Given the description of an element on the screen output the (x, y) to click on. 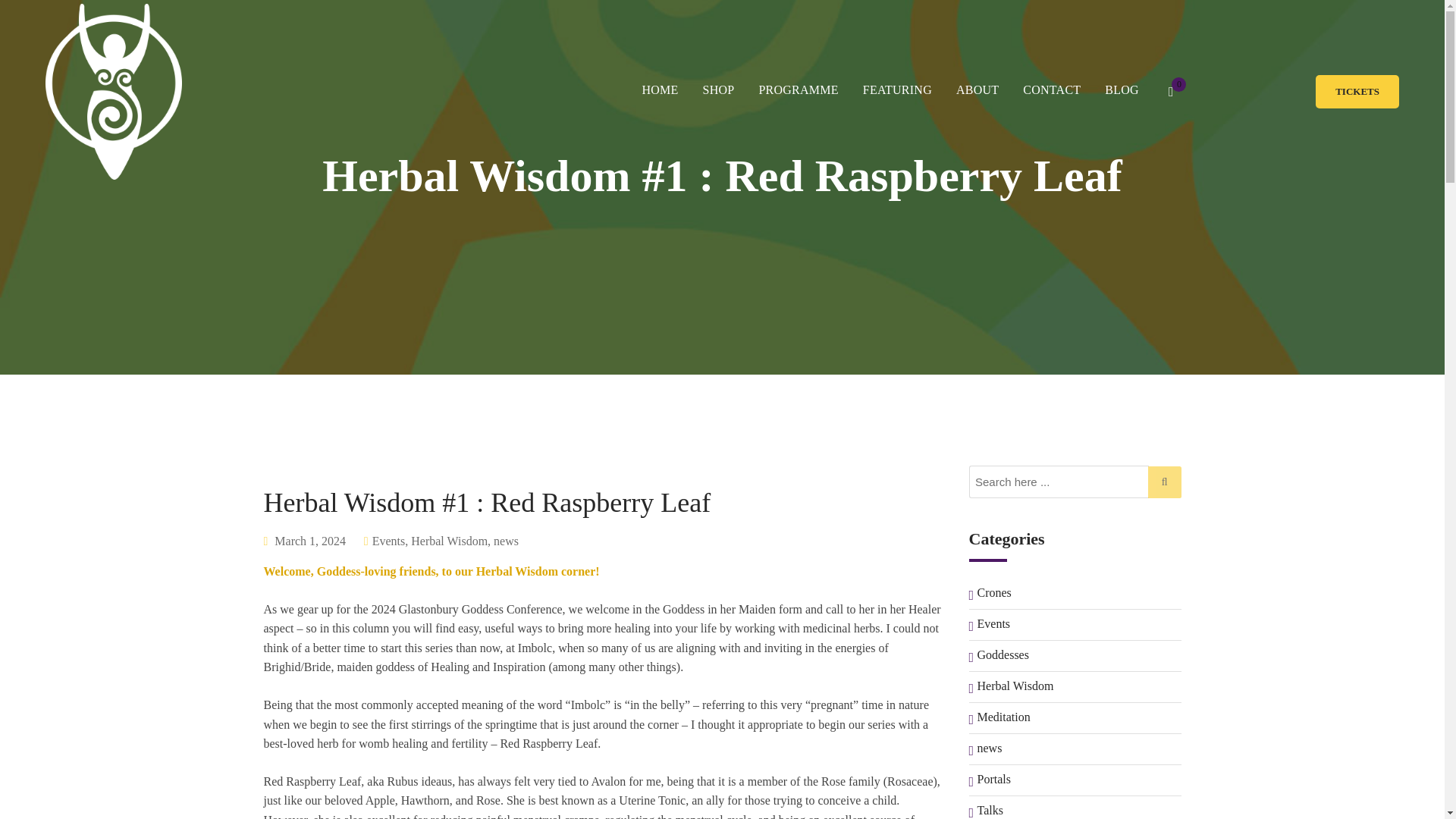
SHOP (719, 89)
BLOG (1122, 89)
CONTACT (1050, 89)
TICKETS (1357, 91)
TICKETS (1357, 91)
ABOUT (976, 89)
HOME (659, 89)
FEATURING (896, 89)
0 (1171, 92)
PROGRAMME (798, 89)
